Given the description of an element on the screen output the (x, y) to click on. 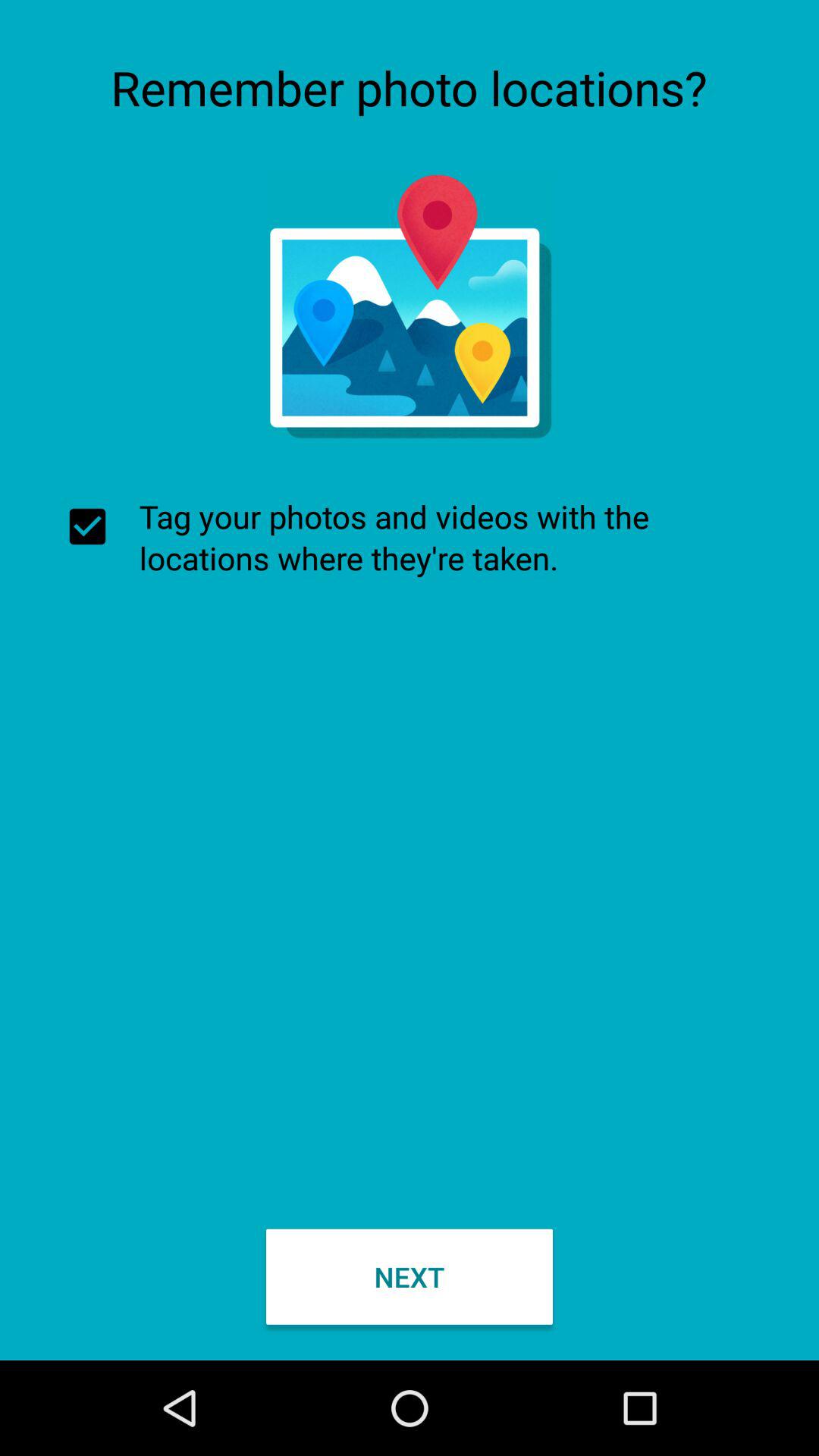
select the tag your photos at the center (409, 536)
